Given the description of an element on the screen output the (x, y) to click on. 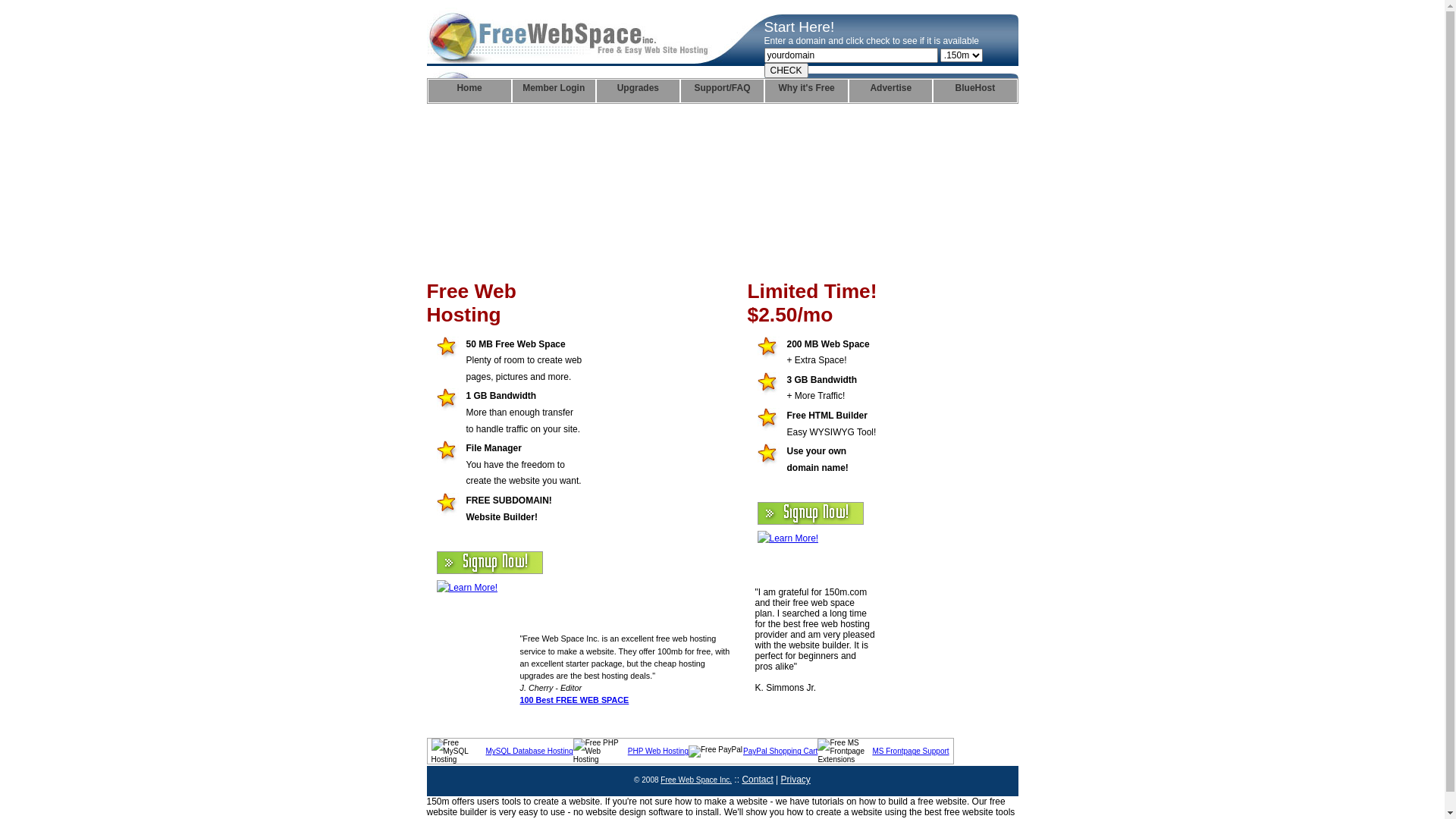
Advertise Element type: text (890, 90)
Upgrades Element type: text (637, 90)
MySQL Database Hosting Element type: text (528, 750)
MS Frontpage Support Element type: text (910, 750)
Why it's Free Element type: text (806, 90)
PayPal Shopping Cart Element type: text (780, 750)
Support/FAQ Element type: text (721, 90)
100 Best FREE WEB SPACE Element type: text (574, 699)
PHP Web Hosting Element type: text (657, 750)
Free Web Space Inc. Element type: text (695, 779)
Home Element type: text (468, 90)
CHECK Element type: text (786, 70)
Member Login Element type: text (553, 90)
Contact Element type: text (756, 779)
BlueHost Element type: text (974, 90)
Privacy Element type: text (795, 779)
